Given the description of an element on the screen output the (x, y) to click on. 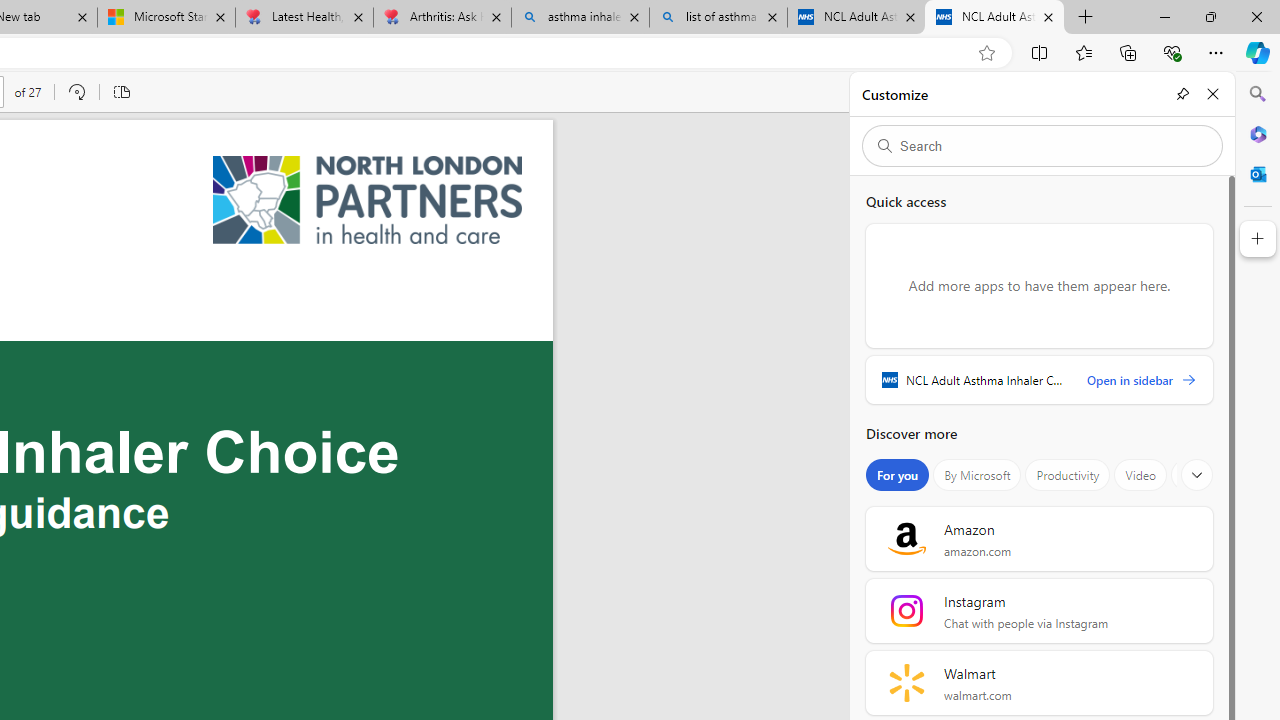
asthma inhaler - Search (580, 17)
Settings and more (1238, 92)
Find (Ctrl + F) (1076, 92)
Save (Ctrl+S) (1158, 92)
